Given the description of an element on the screen output the (x, y) to click on. 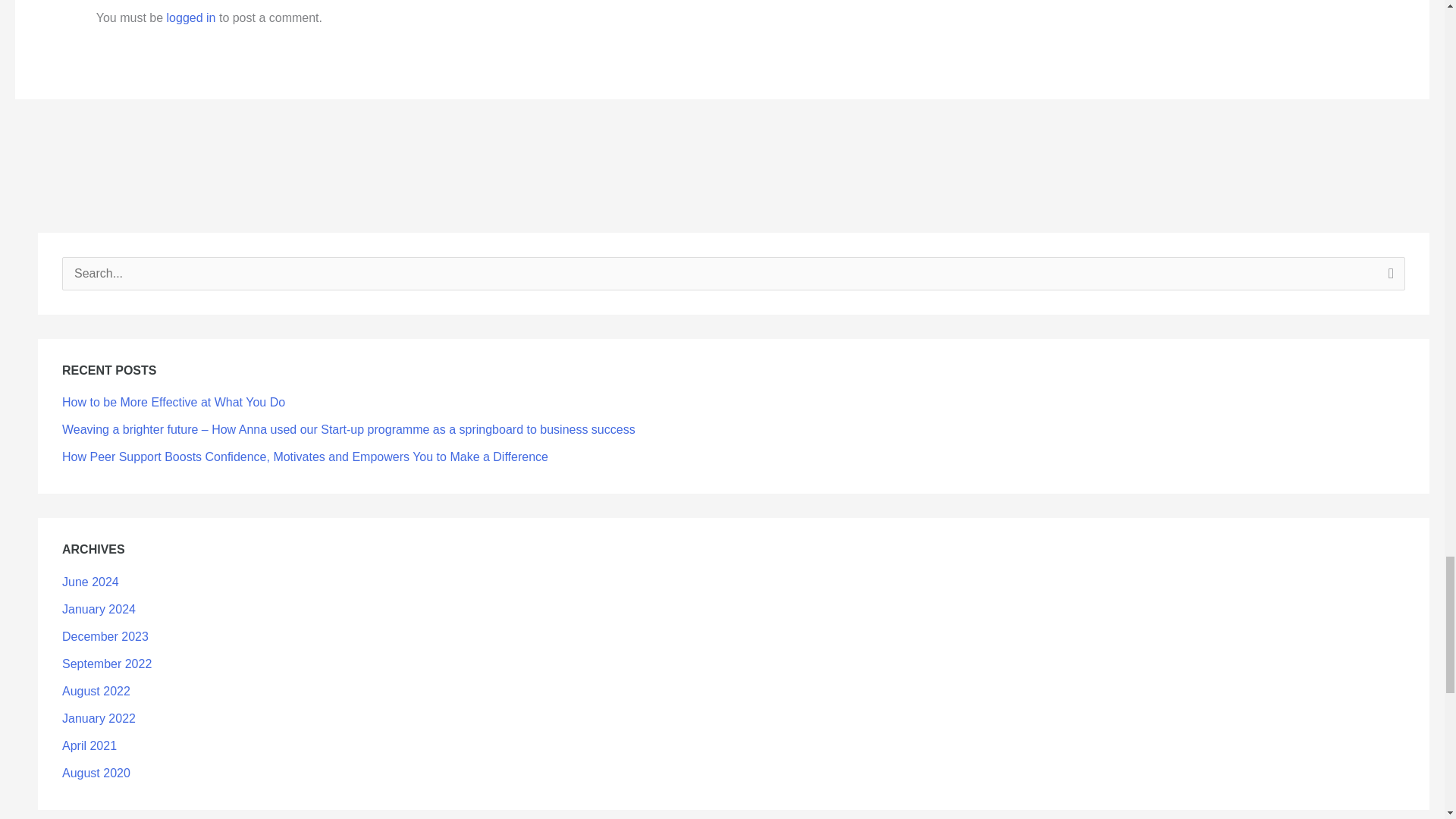
How to be More Effective at What You Do (173, 401)
logged in (191, 17)
